Given the description of an element on the screen output the (x, y) to click on. 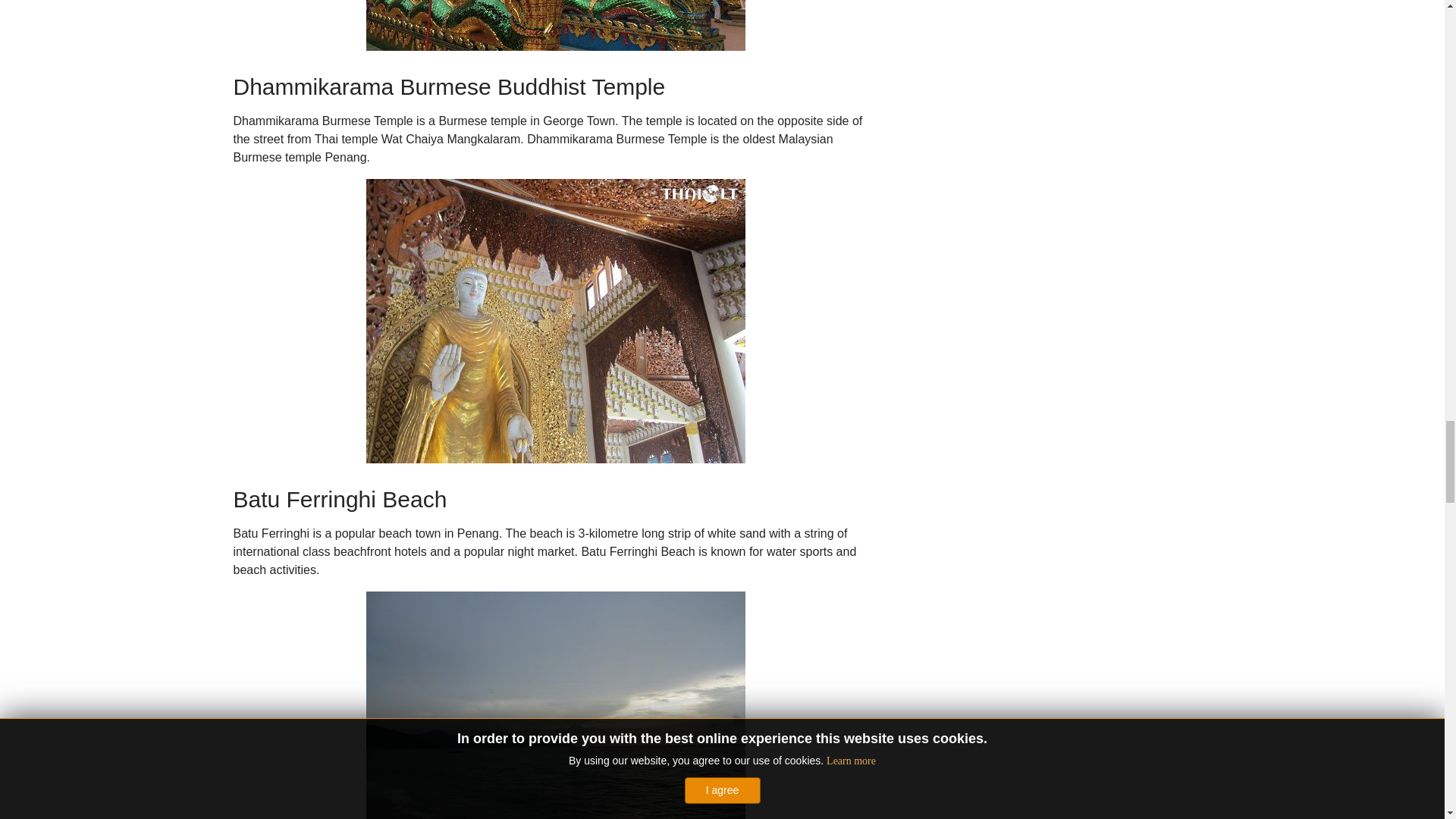
Batu Ferringhi Beach (554, 705)
Wat Chaiya Mangkalaram Temple (554, 25)
Dhammikarama Burmese Buddhist Temple (554, 321)
